Given the description of an element on the screen output the (x, y) to click on. 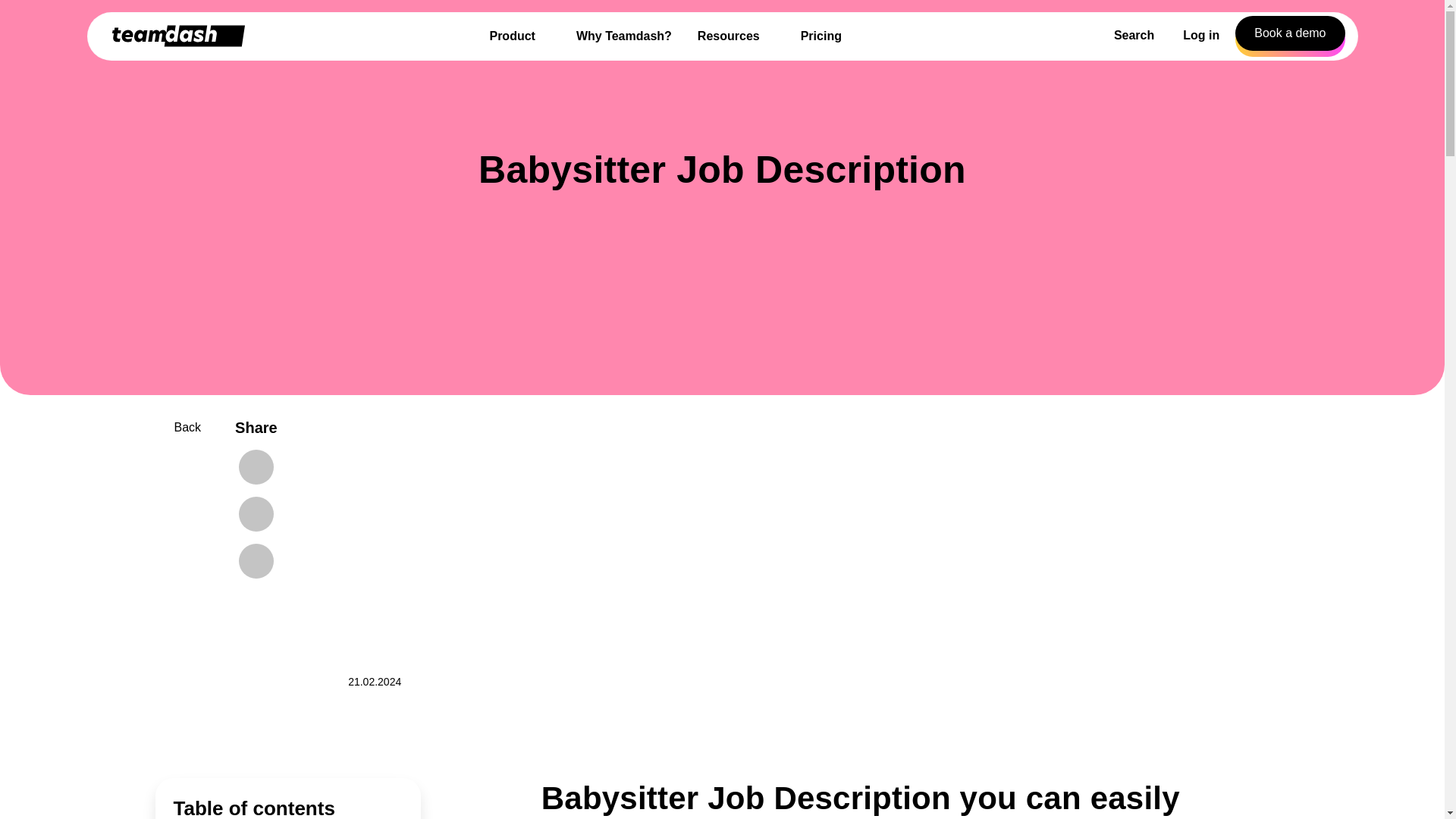
Why Teamdash? (624, 35)
Pricing (821, 35)
Product (519, 35)
Back (178, 427)
Log in (1200, 36)
Book a demo (1288, 32)
Search (1126, 36)
Resources (736, 35)
Facebook (255, 466)
